Given the description of an element on the screen output the (x, y) to click on. 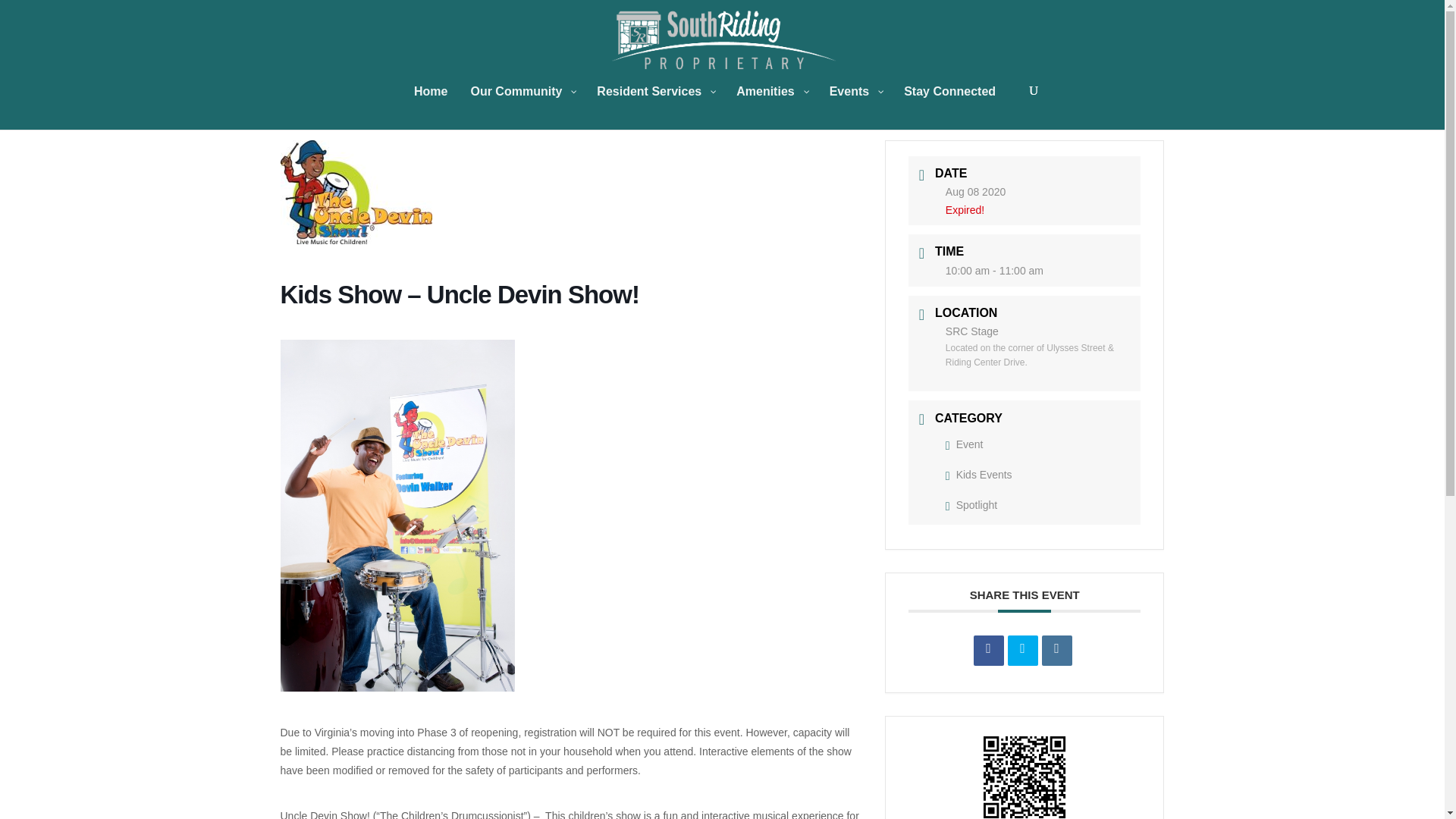
Our Community (521, 107)
Home (430, 107)
Share on Facebook (989, 650)
Linkedin (1056, 650)
Resident Services (655, 107)
Amenities (770, 107)
Tweet (1022, 650)
